Given the description of an element on the screen output the (x, y) to click on. 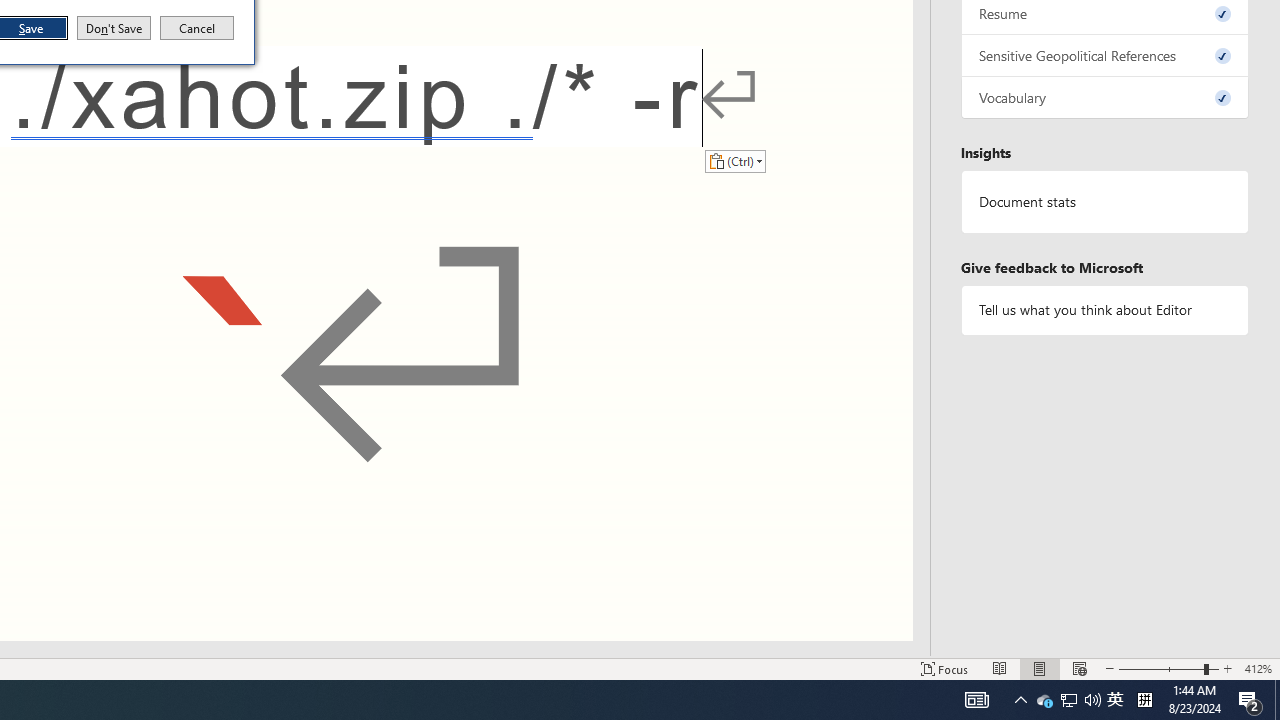
Document statistics (1115, 699)
